Given the description of an element on the screen output the (x, y) to click on. 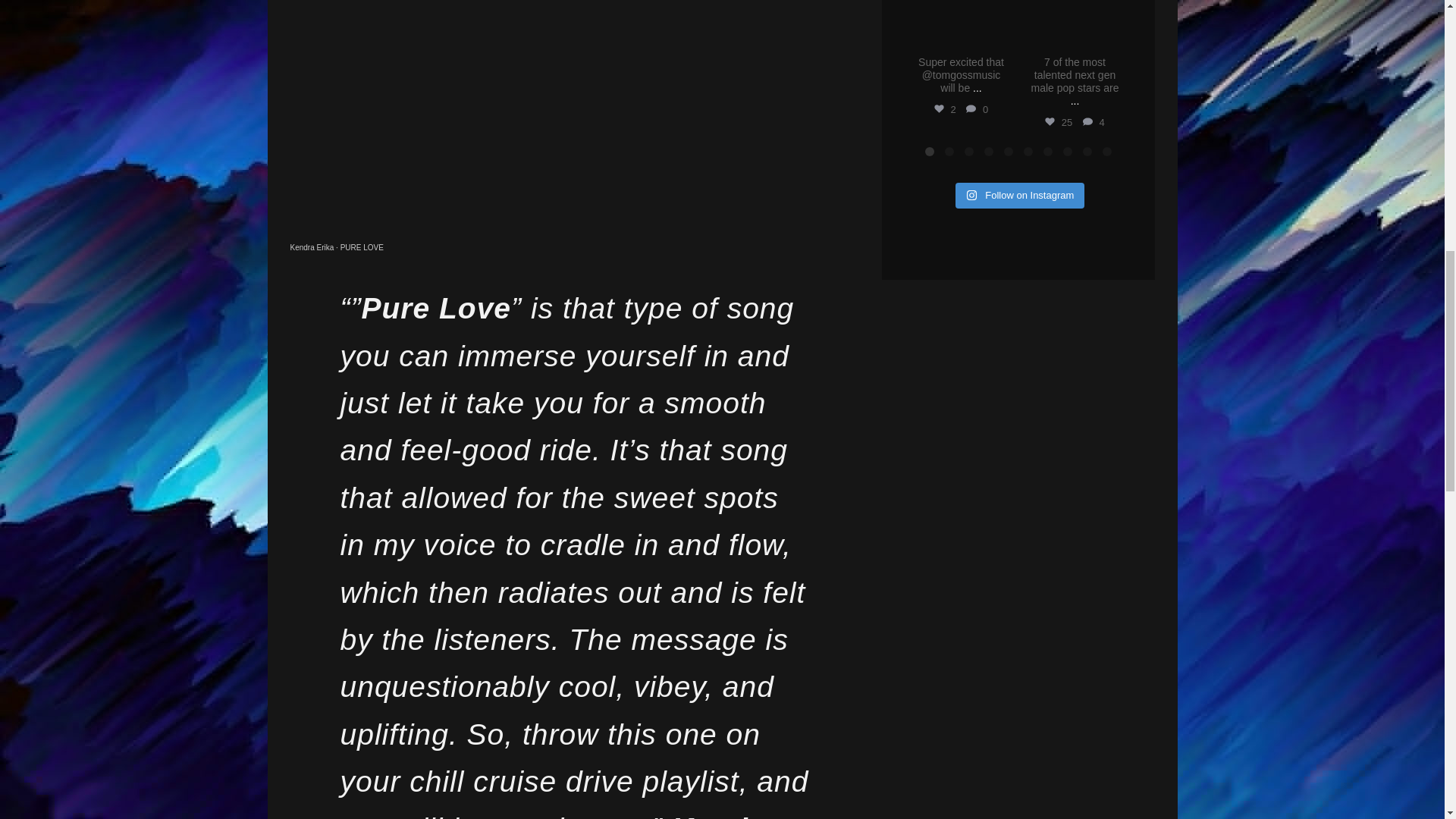
PURE LOVE (362, 247)
Kendra Erika (311, 247)
Kendra Erika (311, 247)
PURE LOVE (362, 247)
